Given the description of an element on the screen output the (x, y) to click on. 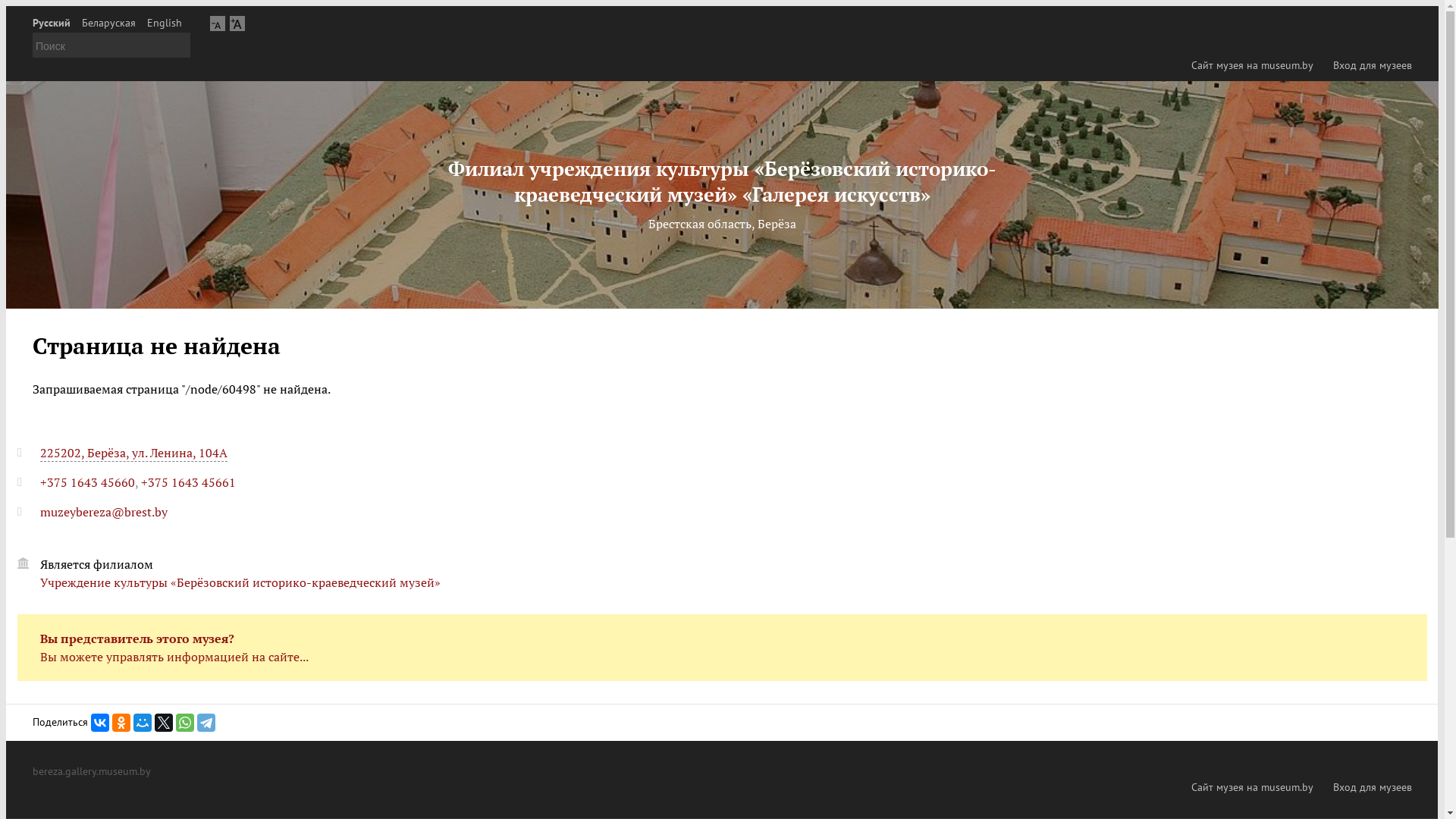
+375 1643 45661 Element type: text (188, 482)
A Element type: text (236, 22)
Telegram Element type: hover (206, 722)
Twitter Element type: hover (163, 722)
+375 1643 45660 Element type: text (87, 482)
A Element type: text (217, 22)
English Element type: text (164, 23)
muzeybereza@brest.by Element type: text (103, 511)
WhatsApp Element type: hover (184, 722)
